Given the description of an element on the screen output the (x, y) to click on. 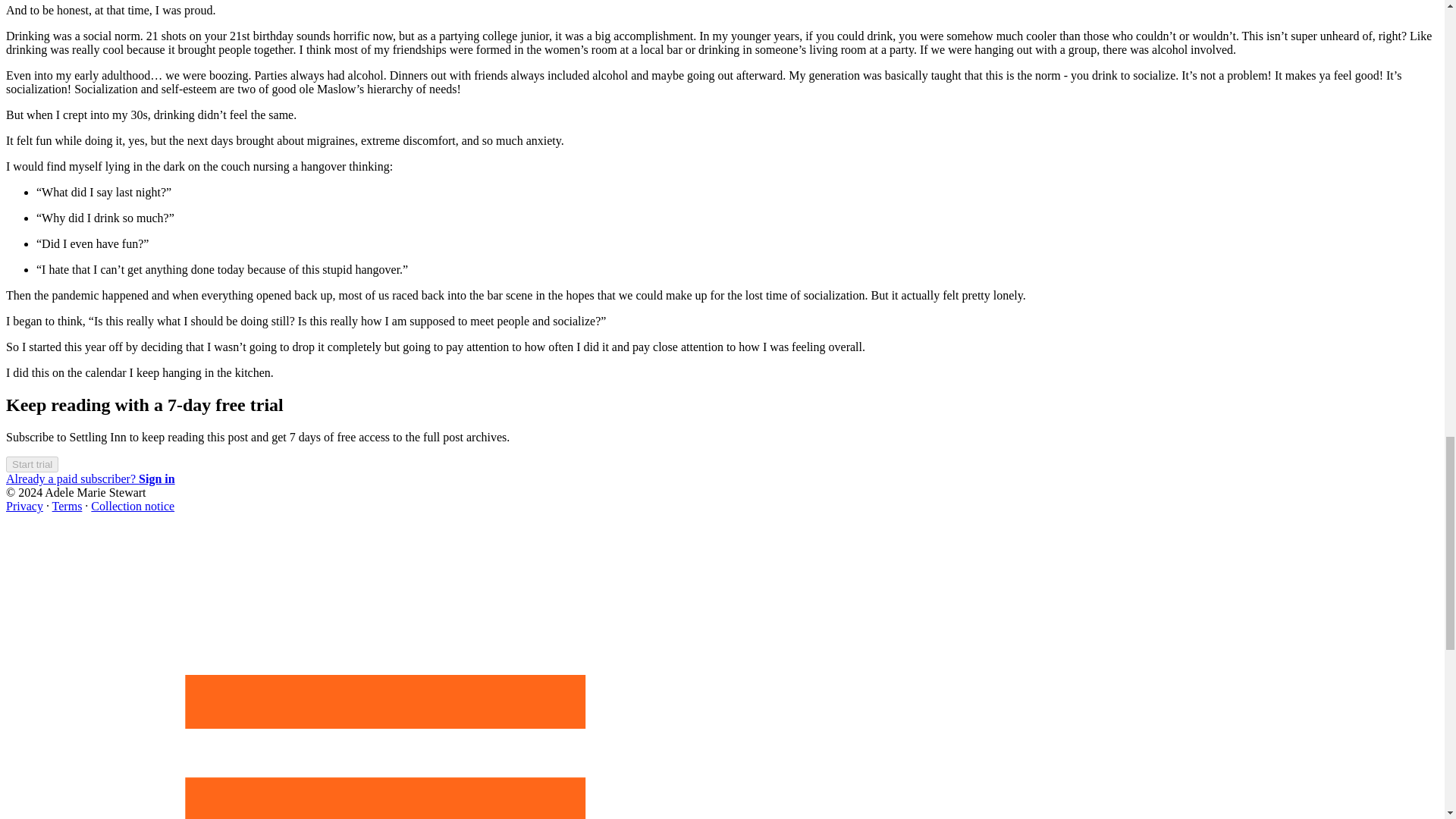
Start trial (31, 463)
Terms (67, 505)
Start trial (31, 464)
Already a paid subscriber? Sign in (89, 478)
Privacy (24, 505)
Collection notice (132, 505)
